Given the description of an element on the screen output the (x, y) to click on. 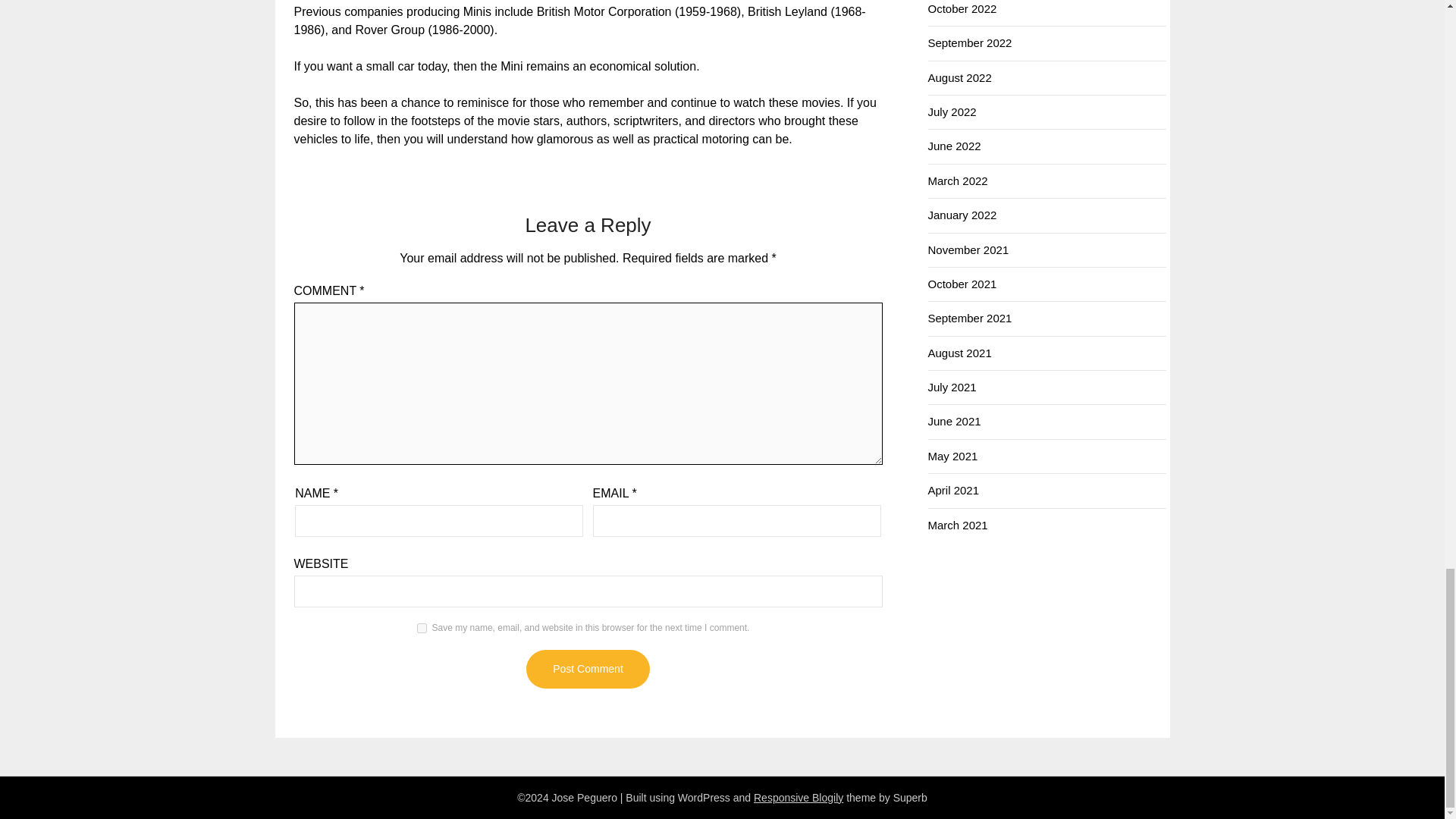
July 2022 (952, 111)
August 2022 (959, 77)
March 2022 (958, 180)
Post Comment (587, 669)
October 2022 (962, 8)
September 2022 (969, 42)
Post Comment (587, 669)
yes (421, 628)
June 2022 (954, 145)
